Given the description of an element on the screen output the (x, y) to click on. 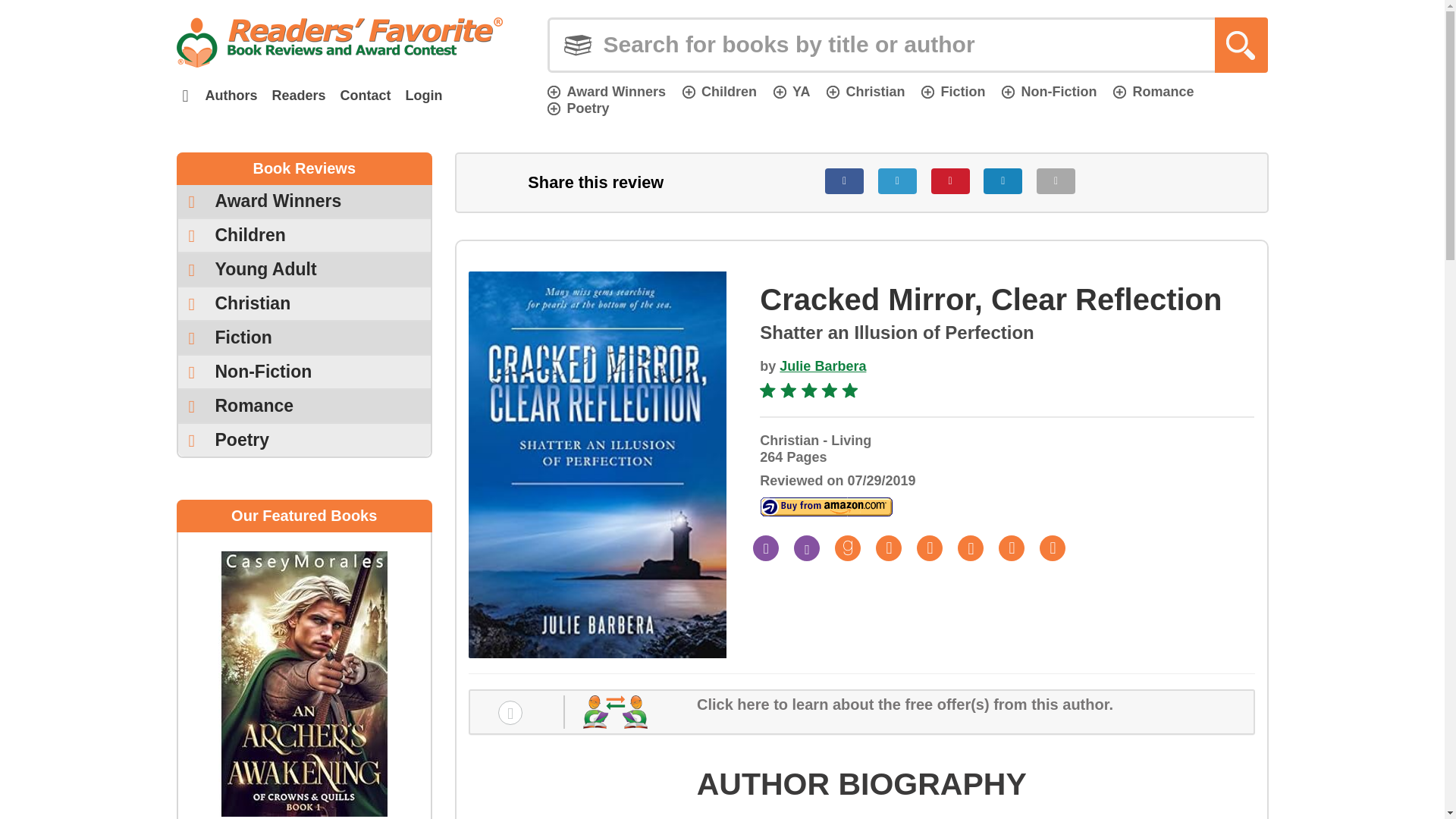
YA (791, 91)
Poetry (577, 108)
Award Winners (303, 202)
Romance (1153, 91)
Christian (865, 91)
Readers' Favorite (339, 42)
Fiction (953, 91)
Non-Fiction (1048, 91)
Children (719, 91)
Award Winners (606, 91)
Login (423, 96)
Contact (365, 96)
Readers (297, 96)
Authors (230, 96)
